Given the description of an element on the screen output the (x, y) to click on. 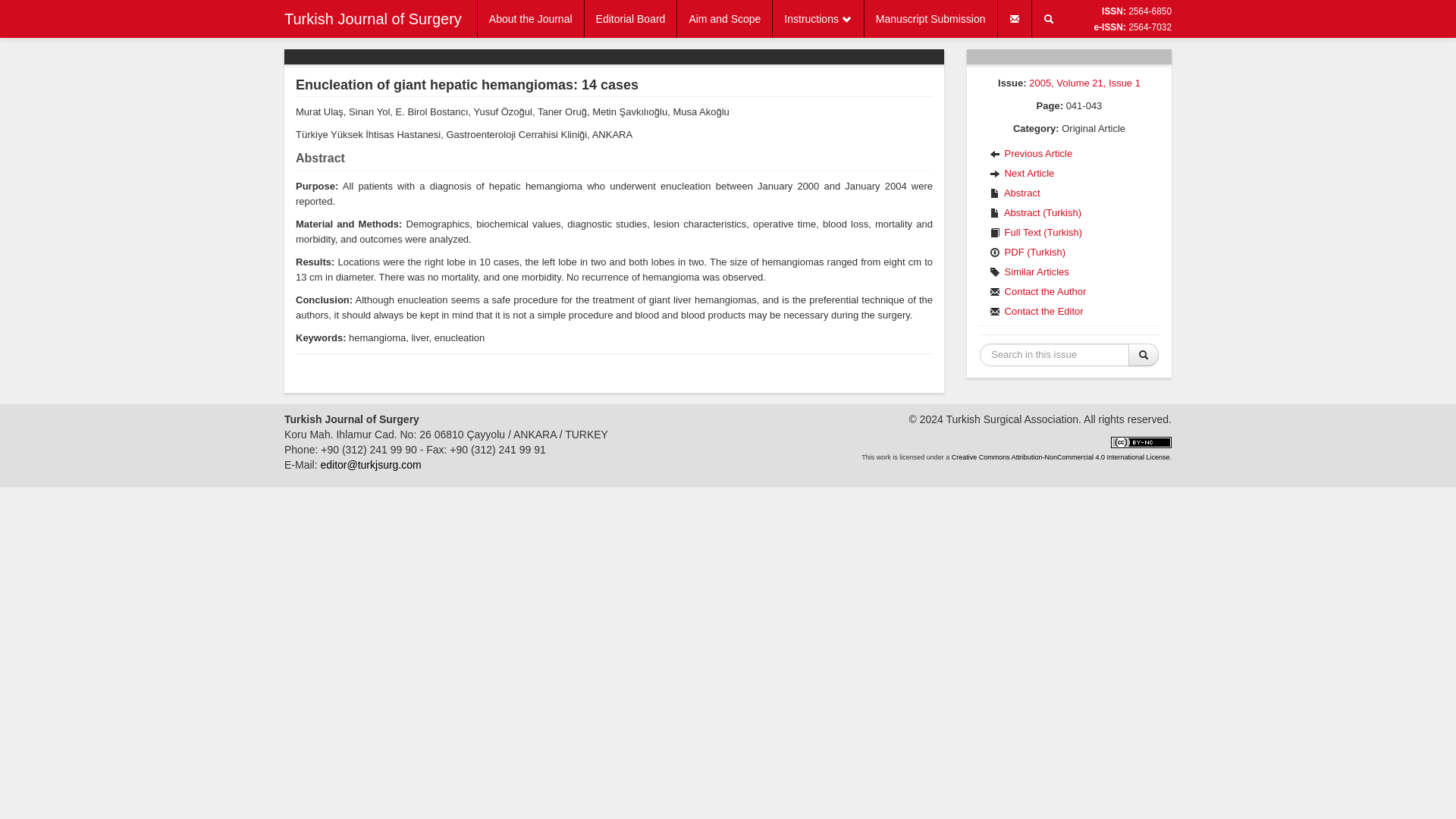
Turkish Journal of Surgery (373, 18)
Contact the Author (1069, 291)
2005, Volume 21, Issue 1 (1084, 82)
Instructions (818, 18)
About the Journal (530, 18)
Contact the Editor (1069, 311)
Previous Article (1069, 153)
Manuscript Submission (930, 18)
Abstract (1069, 193)
